Given the description of an element on the screen output the (x, y) to click on. 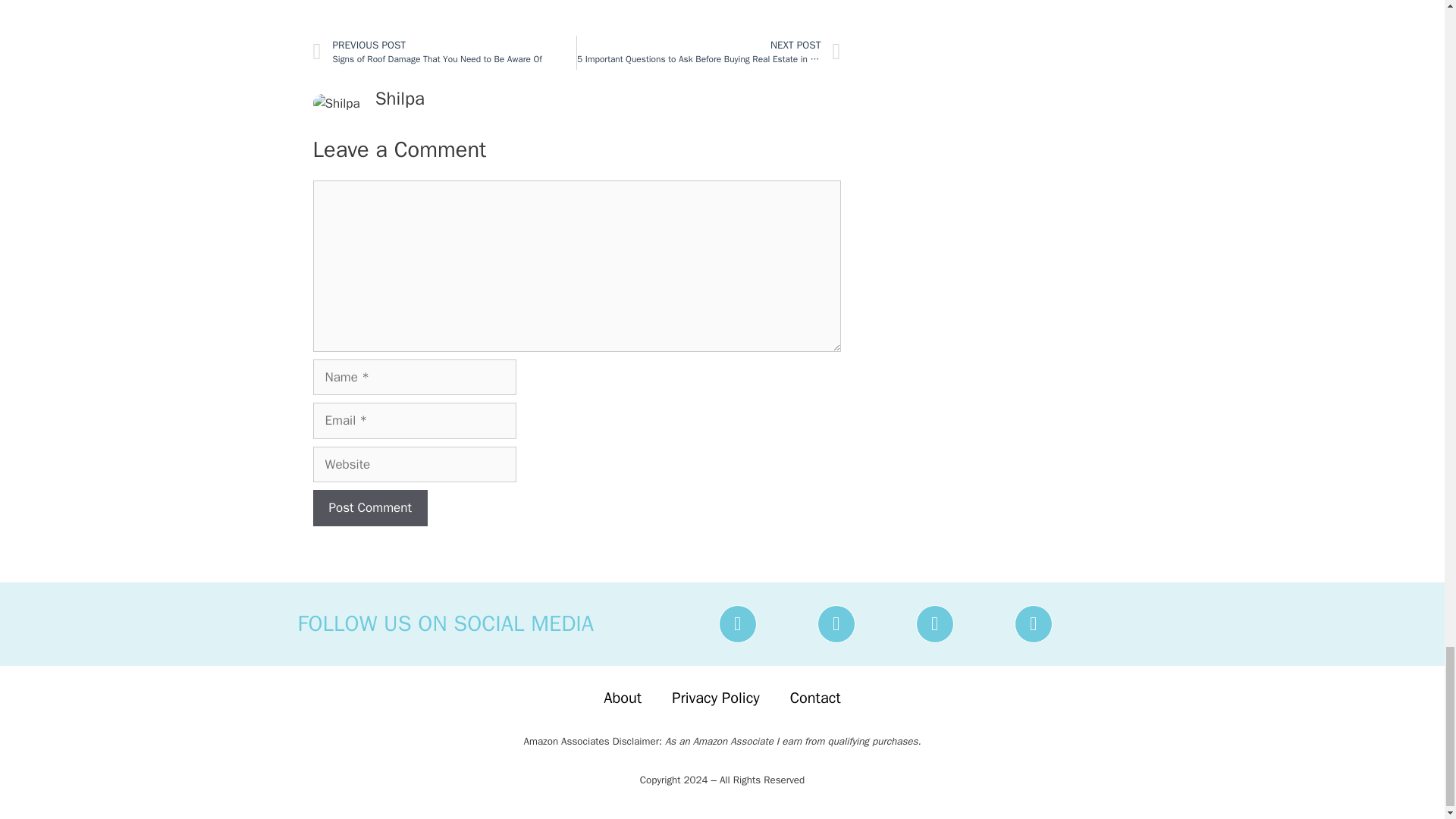
Post Comment (369, 507)
Post Comment (369, 507)
